Given the description of an element on the screen output the (x, y) to click on. 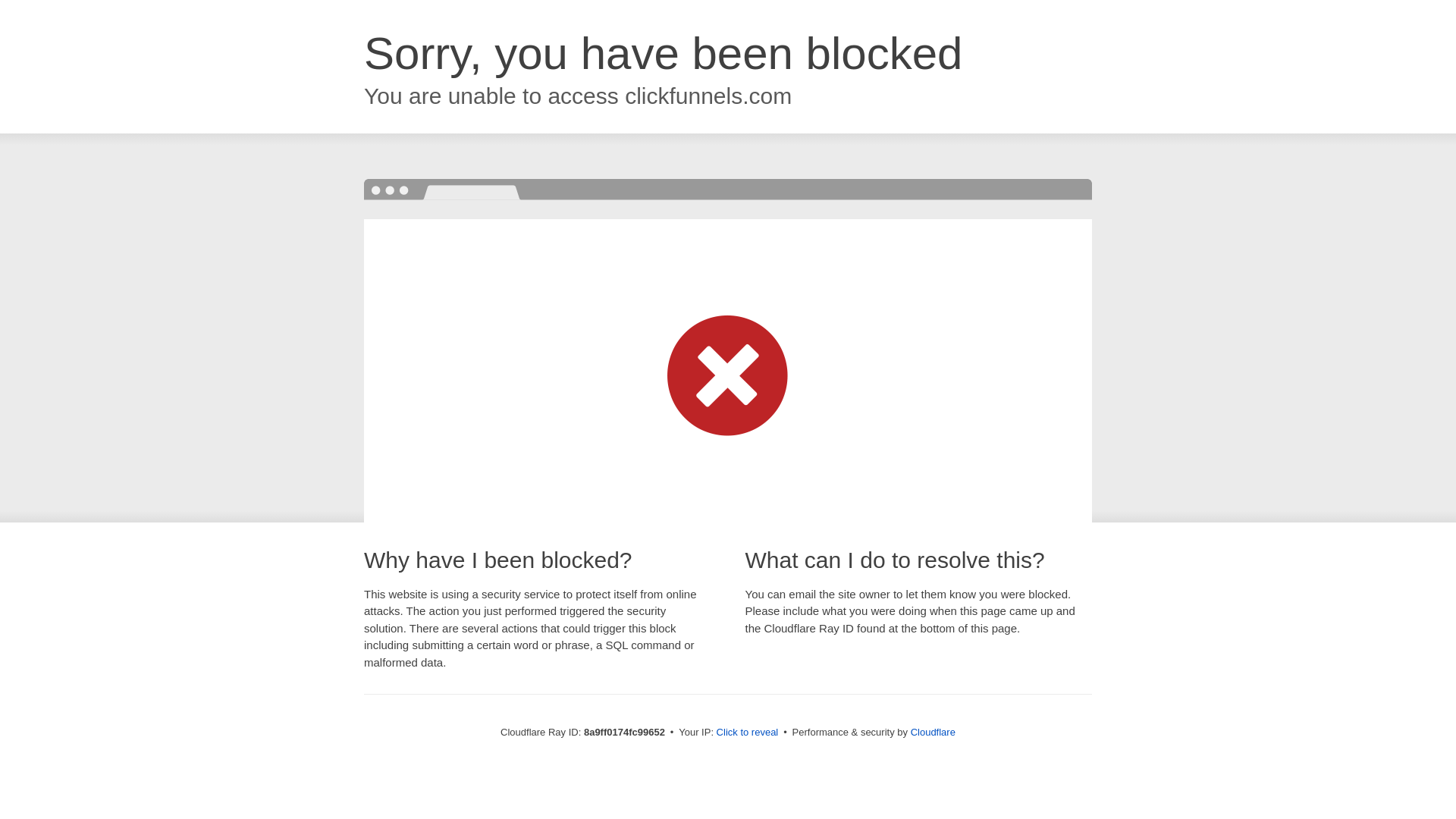
Cloudflare (933, 731)
Click to reveal (747, 732)
